Given the description of an element on the screen output the (x, y) to click on. 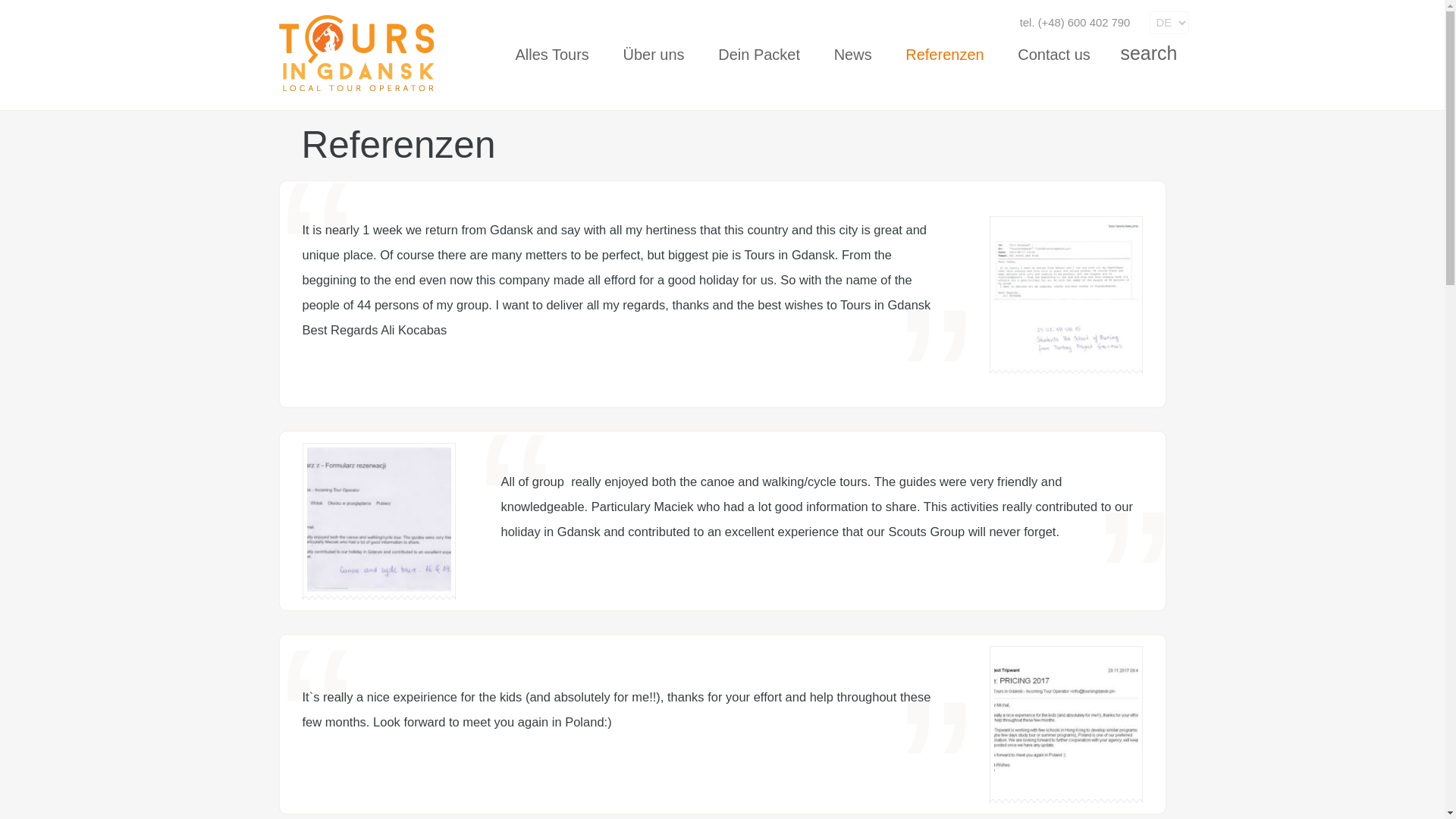
Referenzen (943, 55)
Alles Tours (551, 55)
News (852, 55)
Dein Packet (759, 55)
Contact us (1054, 55)
